Given the description of an element on the screen output the (x, y) to click on. 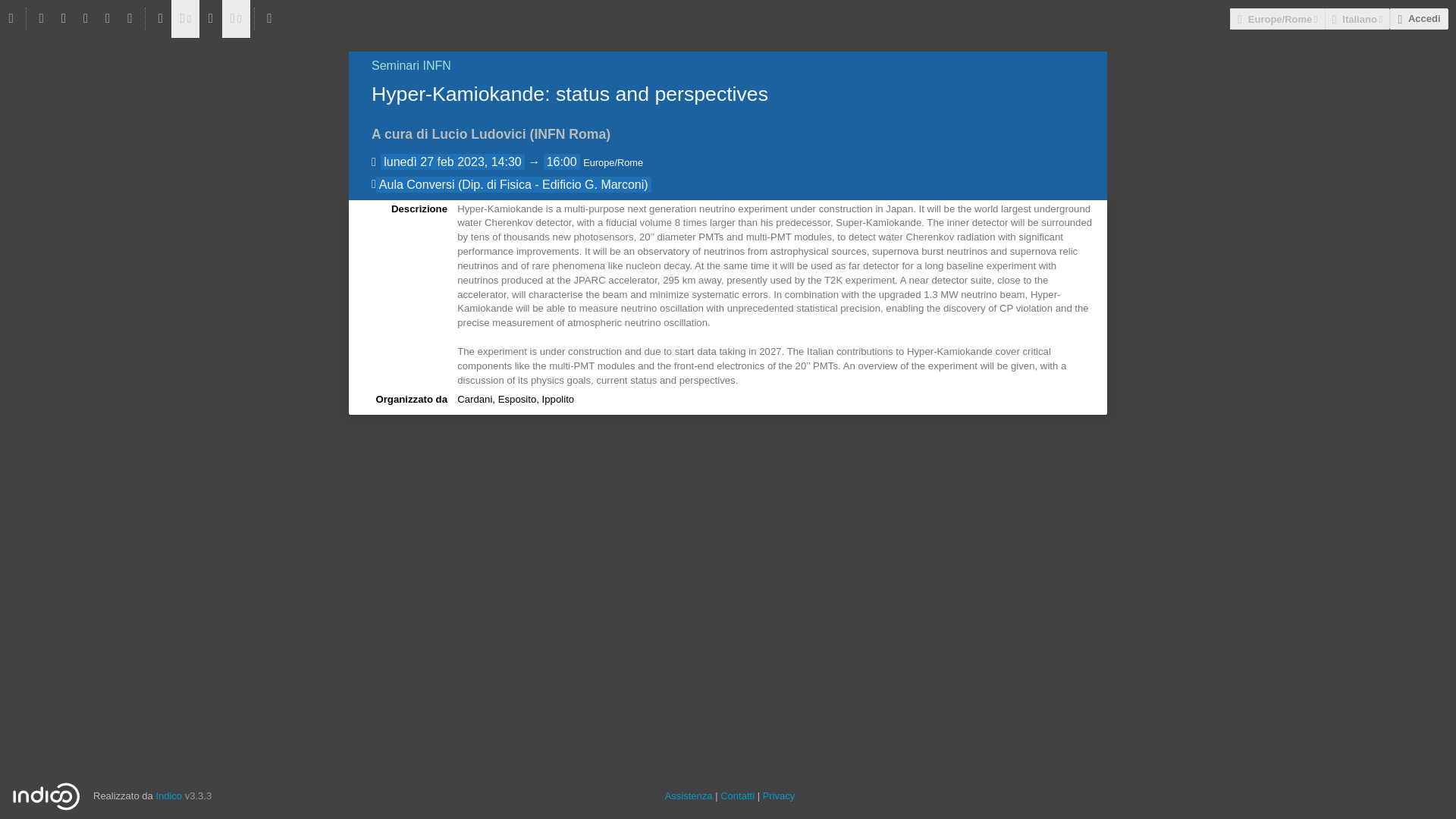
Italiano (1357, 19)
Seminari INFN (411, 65)
Indico (168, 795)
Contatti (737, 795)
Accedi (1418, 19)
Privacy (778, 795)
Assistenza (689, 795)
